Given the description of an element on the screen output the (x, y) to click on. 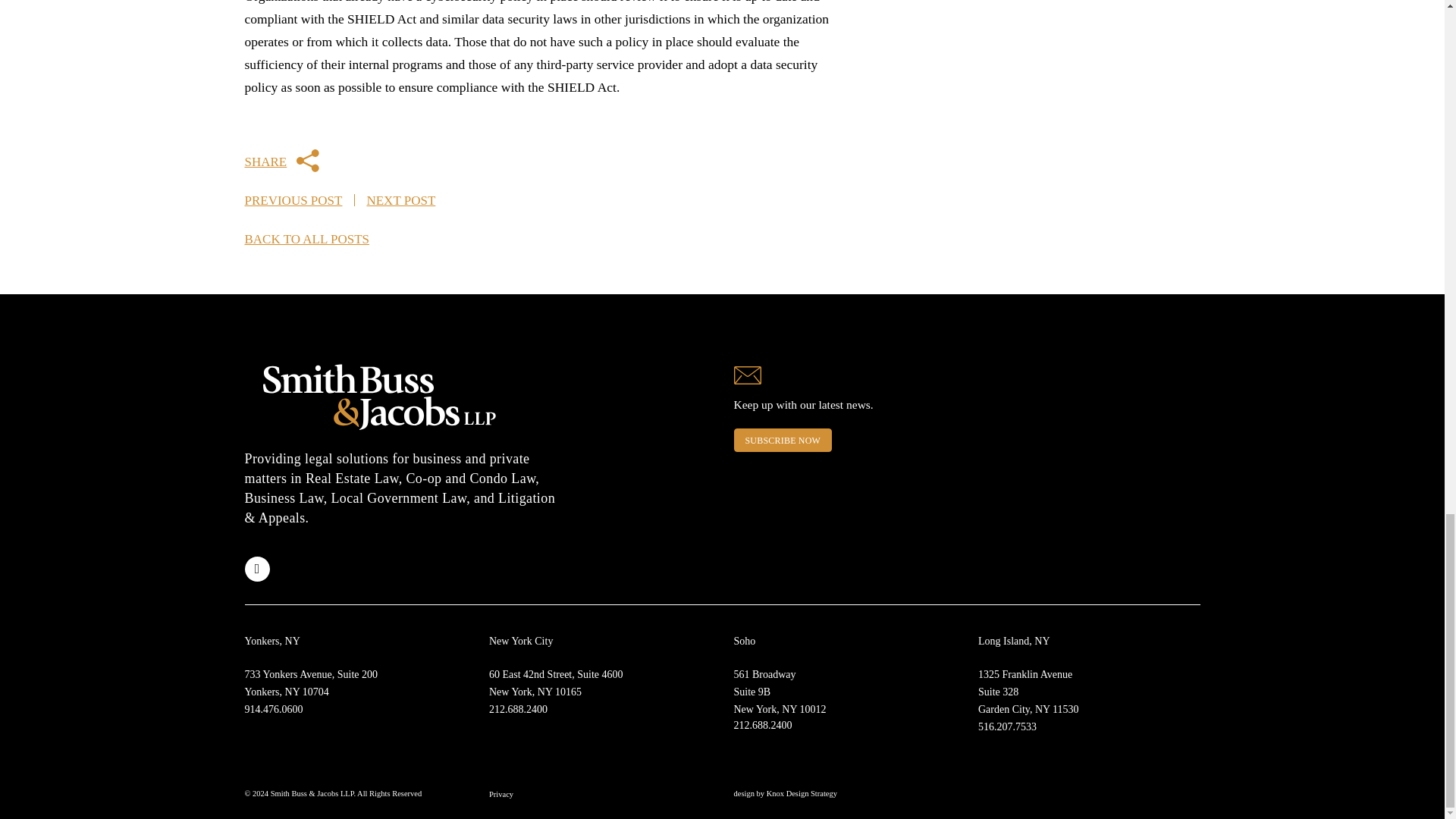
212.688.2400 (556, 683)
212.688.2400 (762, 725)
SHARE (518, 708)
516.207.7533 (281, 160)
914.476.0600 (1028, 691)
SUBSCRIBE NOW (310, 683)
NEXT POST (1007, 726)
